Given the description of an element on the screen output the (x, y) to click on. 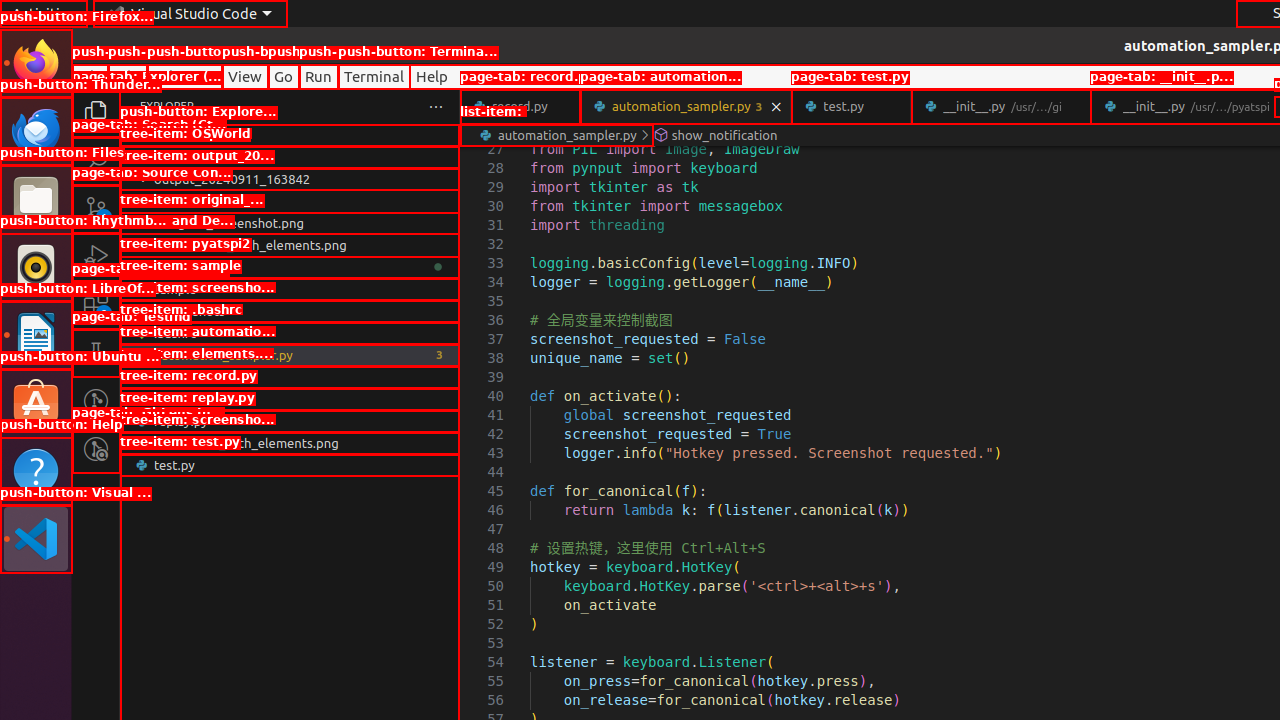
GitLens Inspect Element type: page-tab (96, 449)
Firefox Web Browser Element type: push-button (36, 63)
Extensions (Ctrl+Shift+X) - 2 require update Element type: page-tab (96, 305)
Explorer Section: osworld Element type: push-button (289, 135)
